Given the description of an element on the screen output the (x, y) to click on. 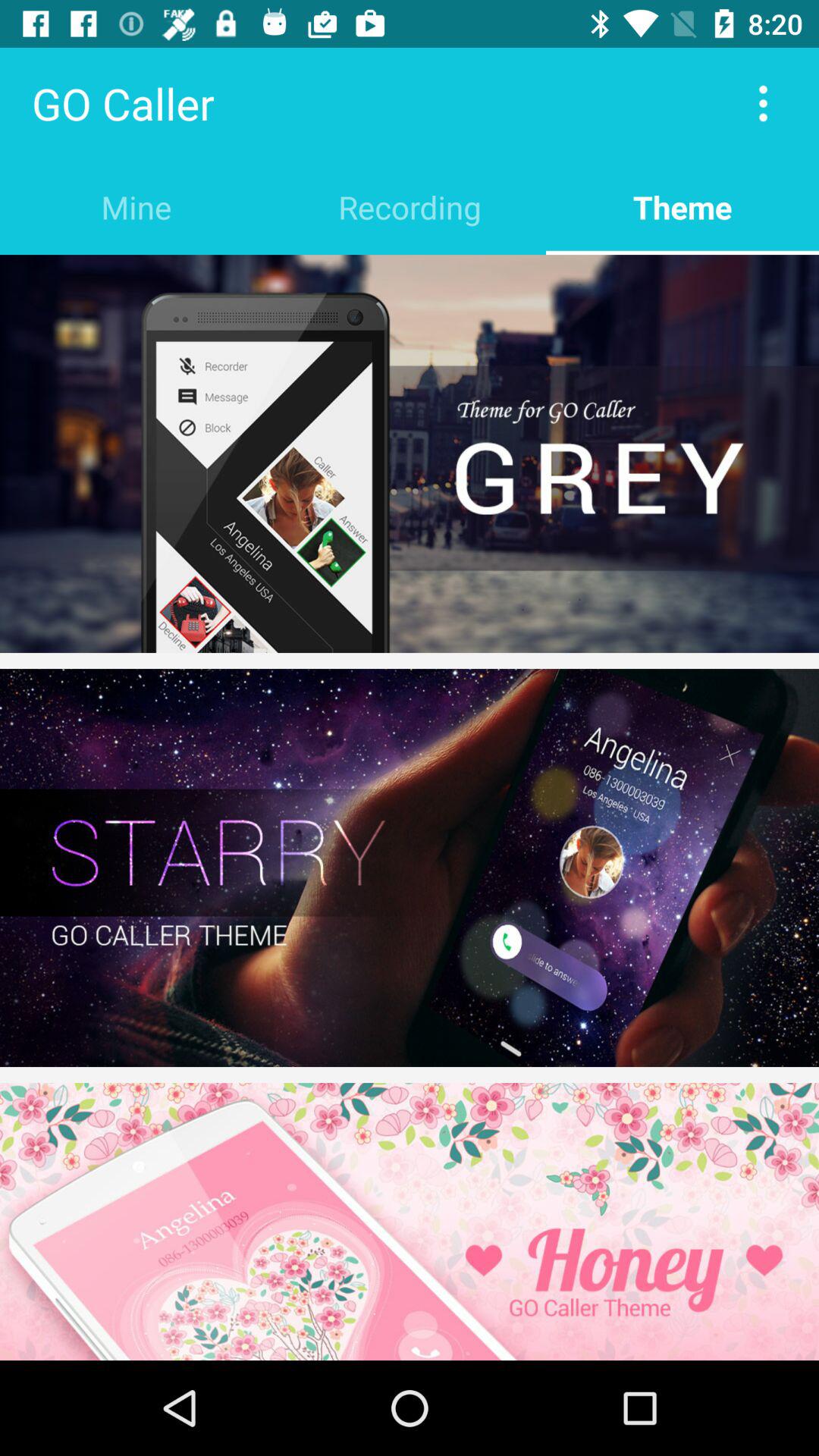
launch the item to the left of the theme icon (409, 206)
